Given the description of an element on the screen output the (x, y) to click on. 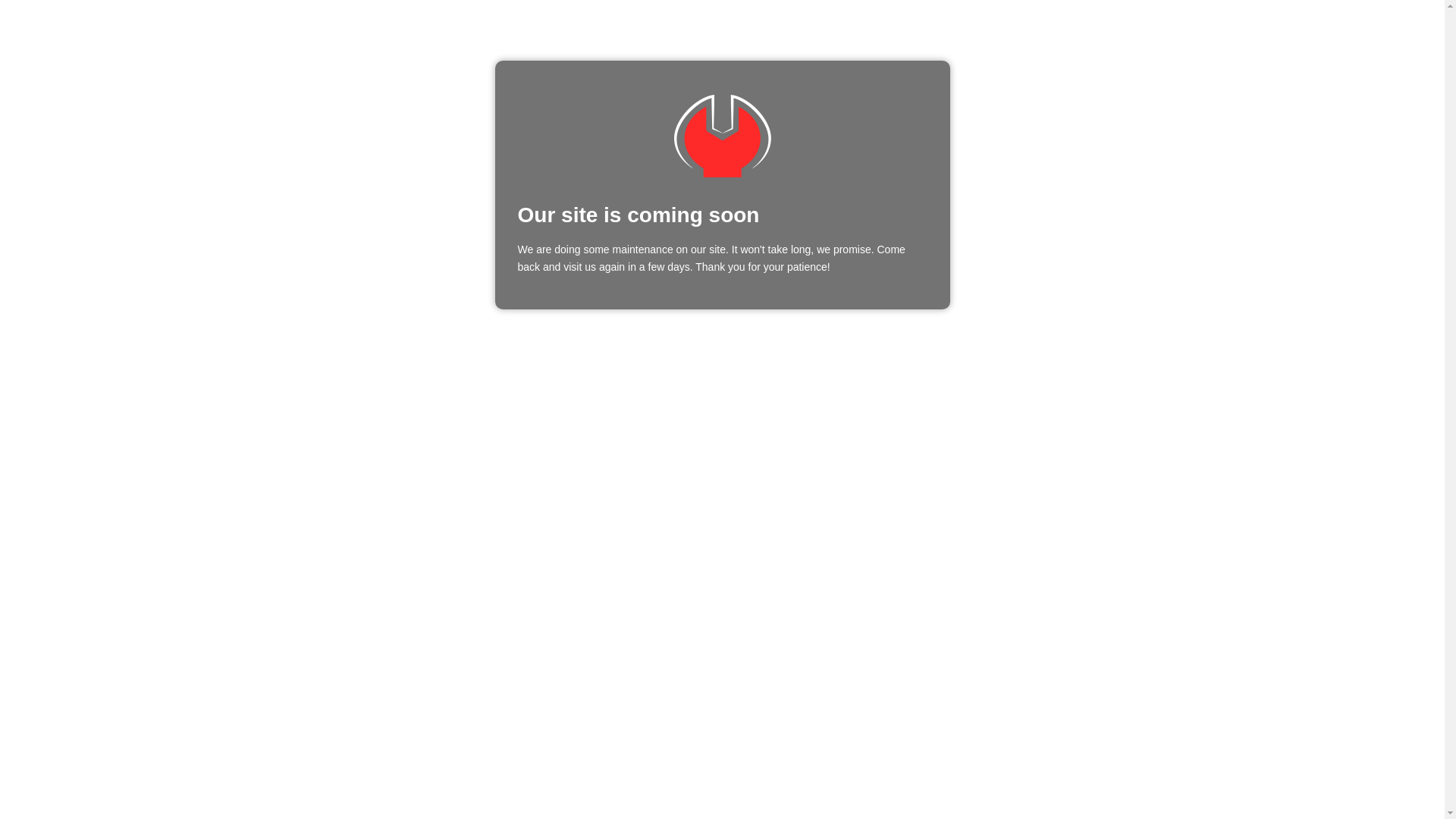
cinematic Element type: hover (721, 135)
